Given the description of an element on the screen output the (x, y) to click on. 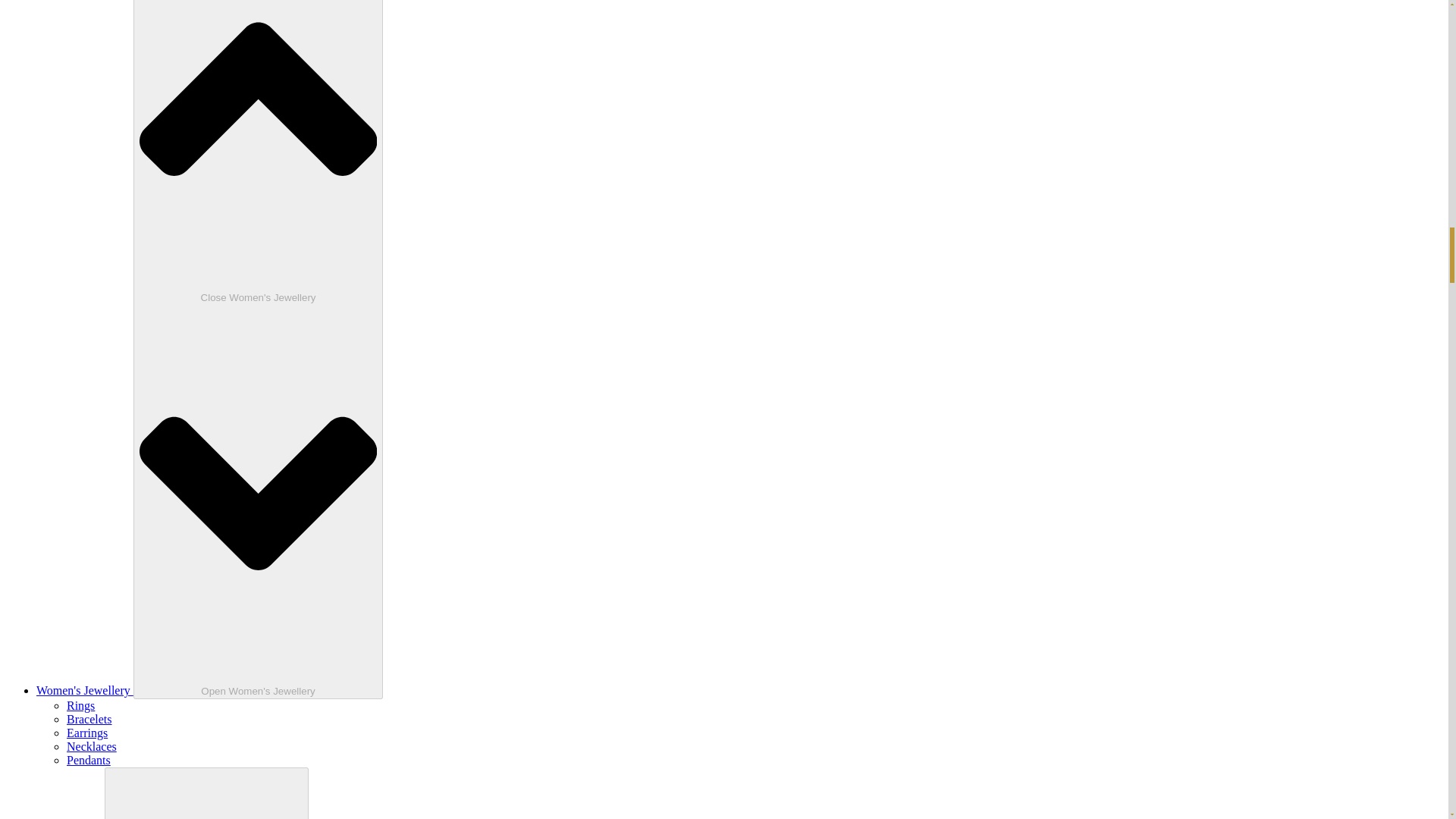
Women's Jewellery (84, 689)
Necklaces (91, 746)
Bracelets (89, 718)
Close Georg Jensen Open Georg Jensen (206, 793)
Pendants (88, 759)
Earrings (86, 732)
Rings (80, 705)
